Given the description of an element on the screen output the (x, y) to click on. 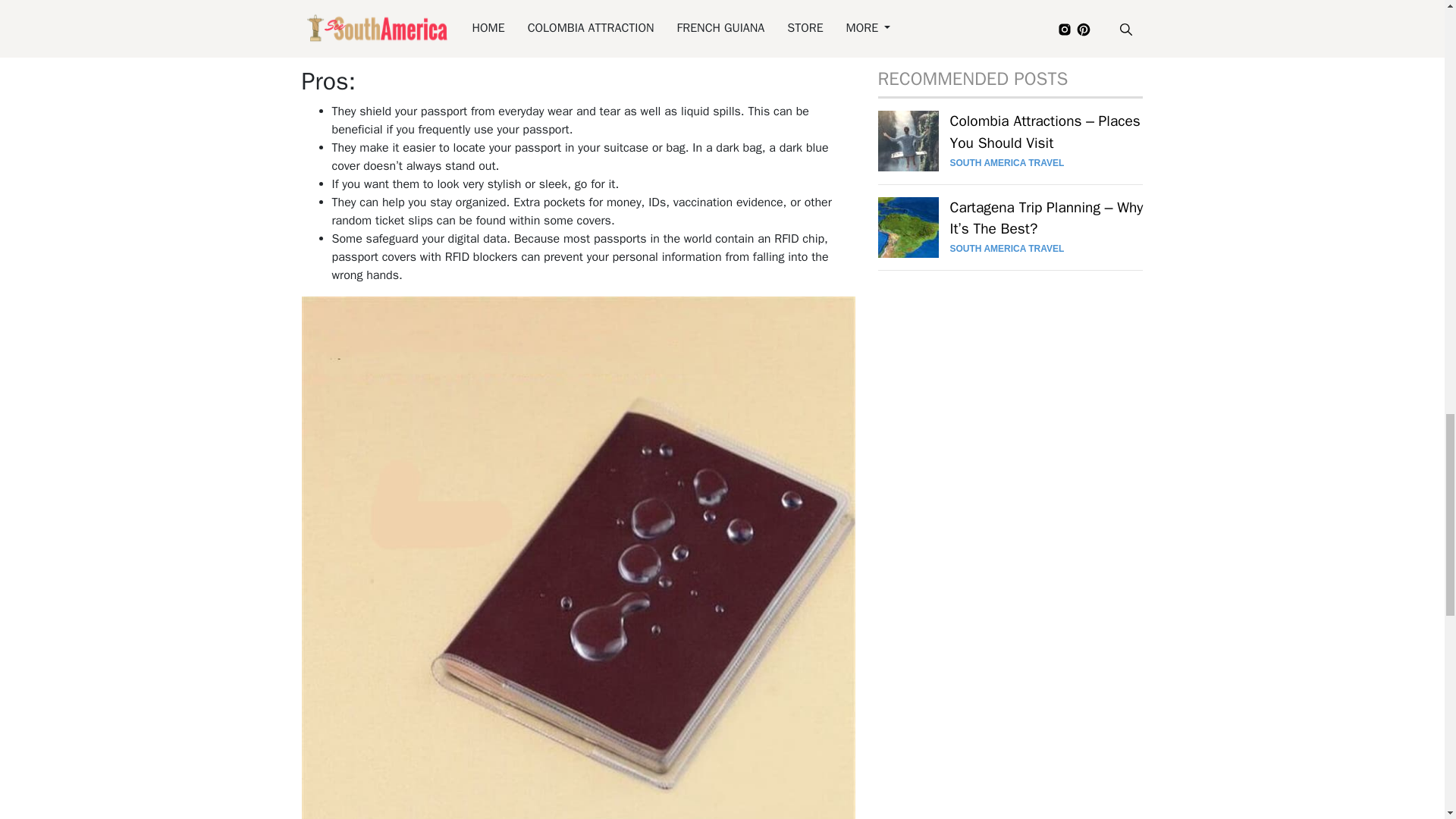
Get it Now (369, 21)
